Given the description of an element on the screen output the (x, y) to click on. 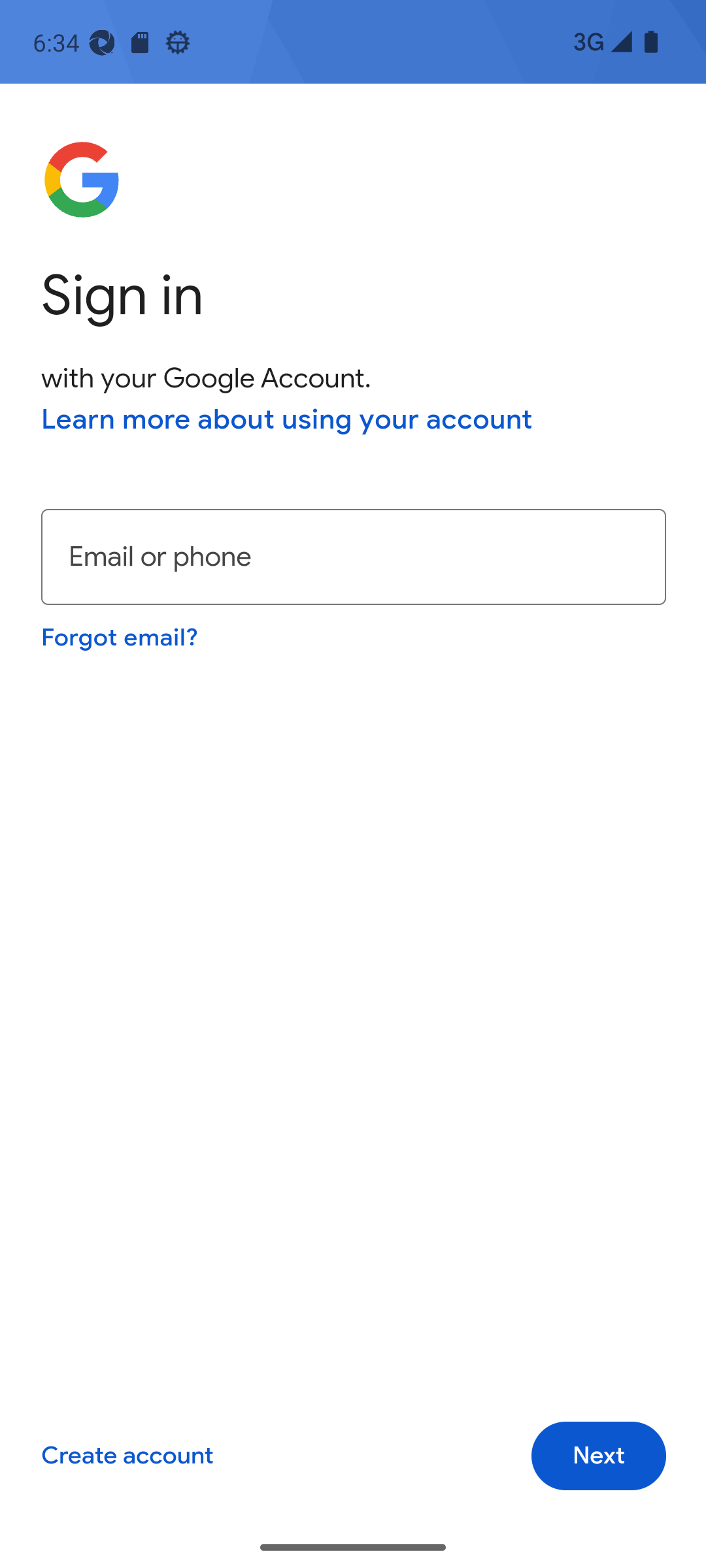
Learn more about using your account (286, 419)
Forgot email? (119, 635)
Create account (127, 1455)
Next (598, 1455)
